Given the description of an element on the screen output the (x, y) to click on. 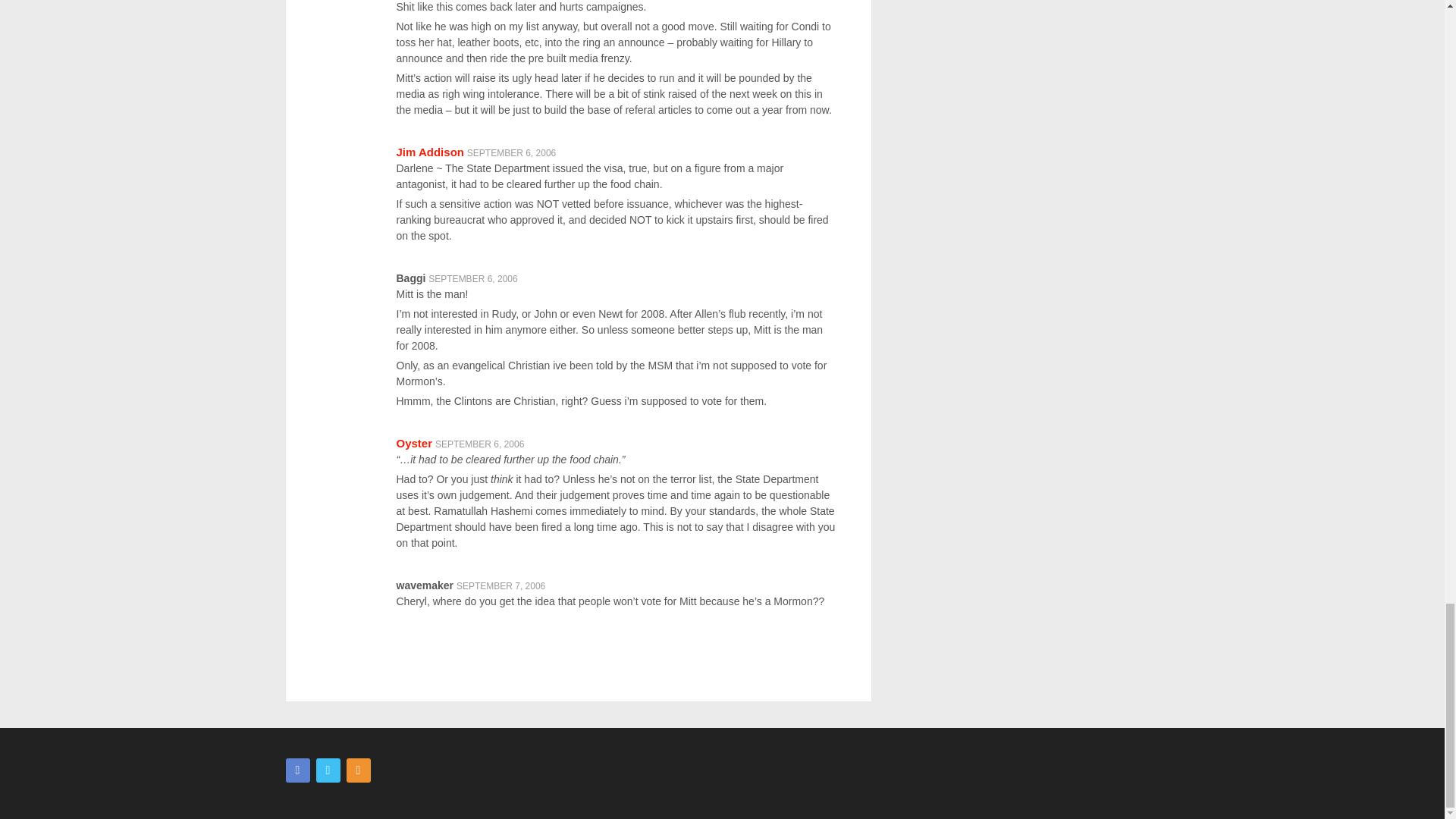
Oyster (414, 442)
Jim Addison (429, 151)
